Given the description of an element on the screen output the (x, y) to click on. 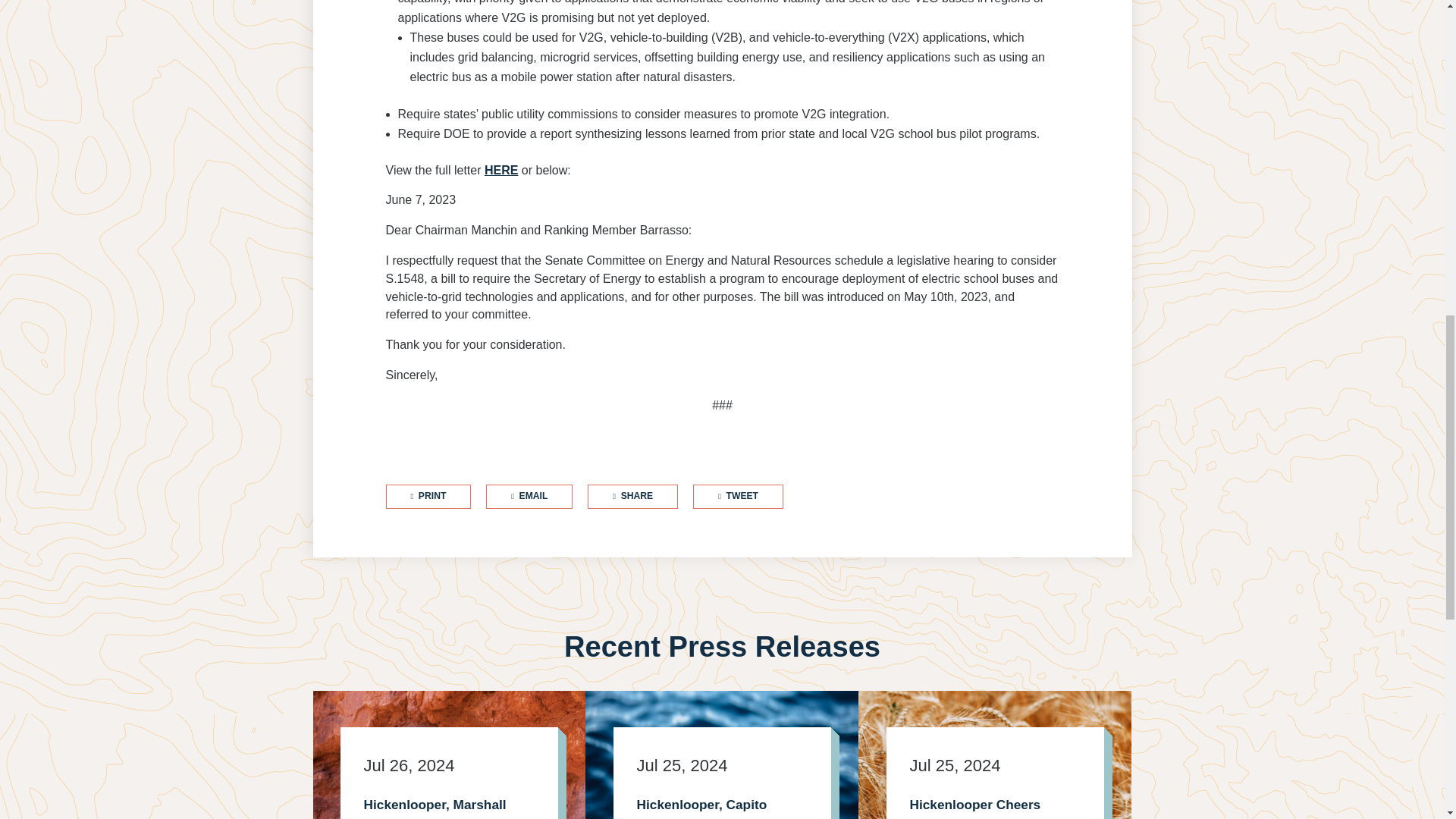
Print (427, 496)
Tweet (738, 496)
Email (529, 496)
Share on Facebook (633, 496)
